Given the description of an element on the screen output the (x, y) to click on. 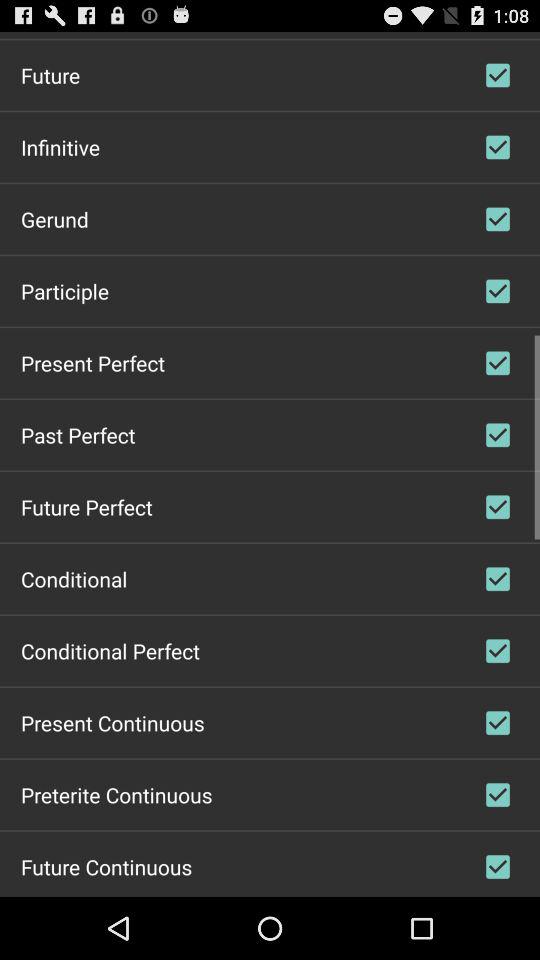
turn on the conditional perfect item (110, 650)
